Given the description of an element on the screen output the (x, y) to click on. 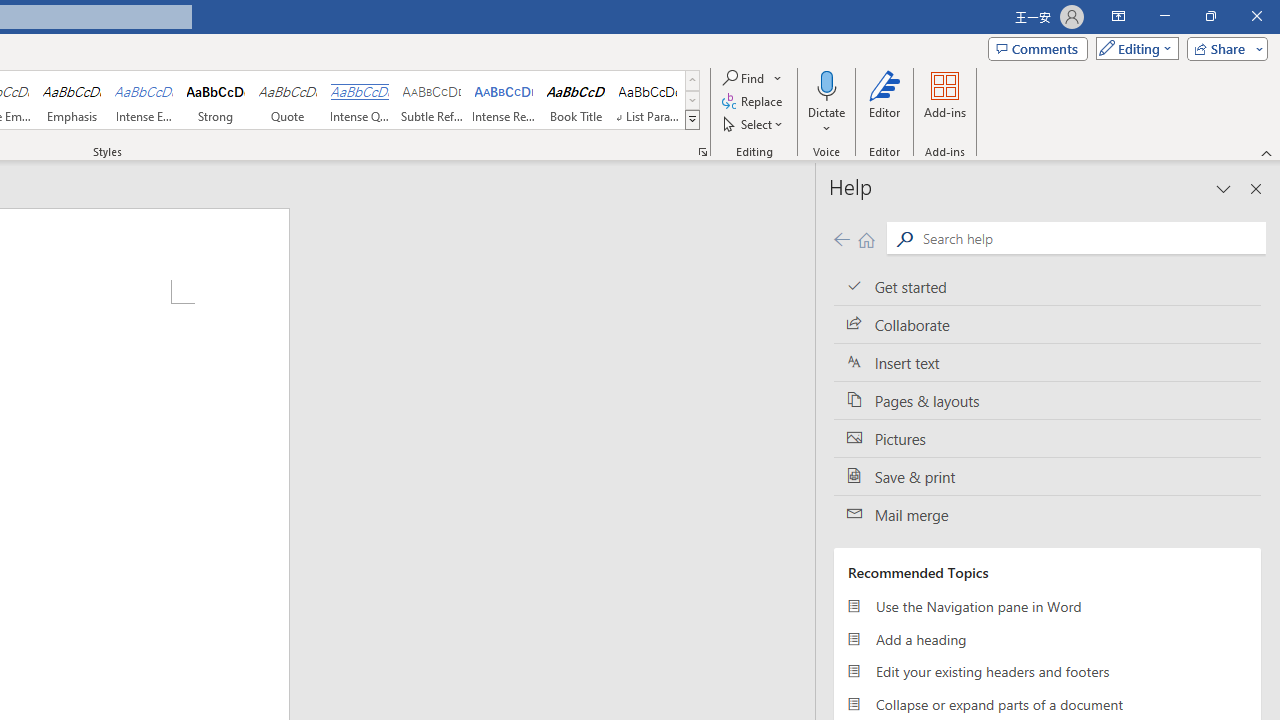
Dictate (826, 84)
Dictate (826, 102)
Styles (692, 120)
Intense Reference (504, 100)
Home (866, 238)
Use the Navigation pane in Word (1047, 605)
Get started (1047, 286)
Close pane (1256, 188)
Previous page (841, 238)
Mail merge (1047, 515)
Intense Emphasis (143, 100)
Task Pane Options (1224, 188)
Pictures (1047, 438)
Class: NetUIImage (692, 119)
